Given the description of an element on the screen output the (x, y) to click on. 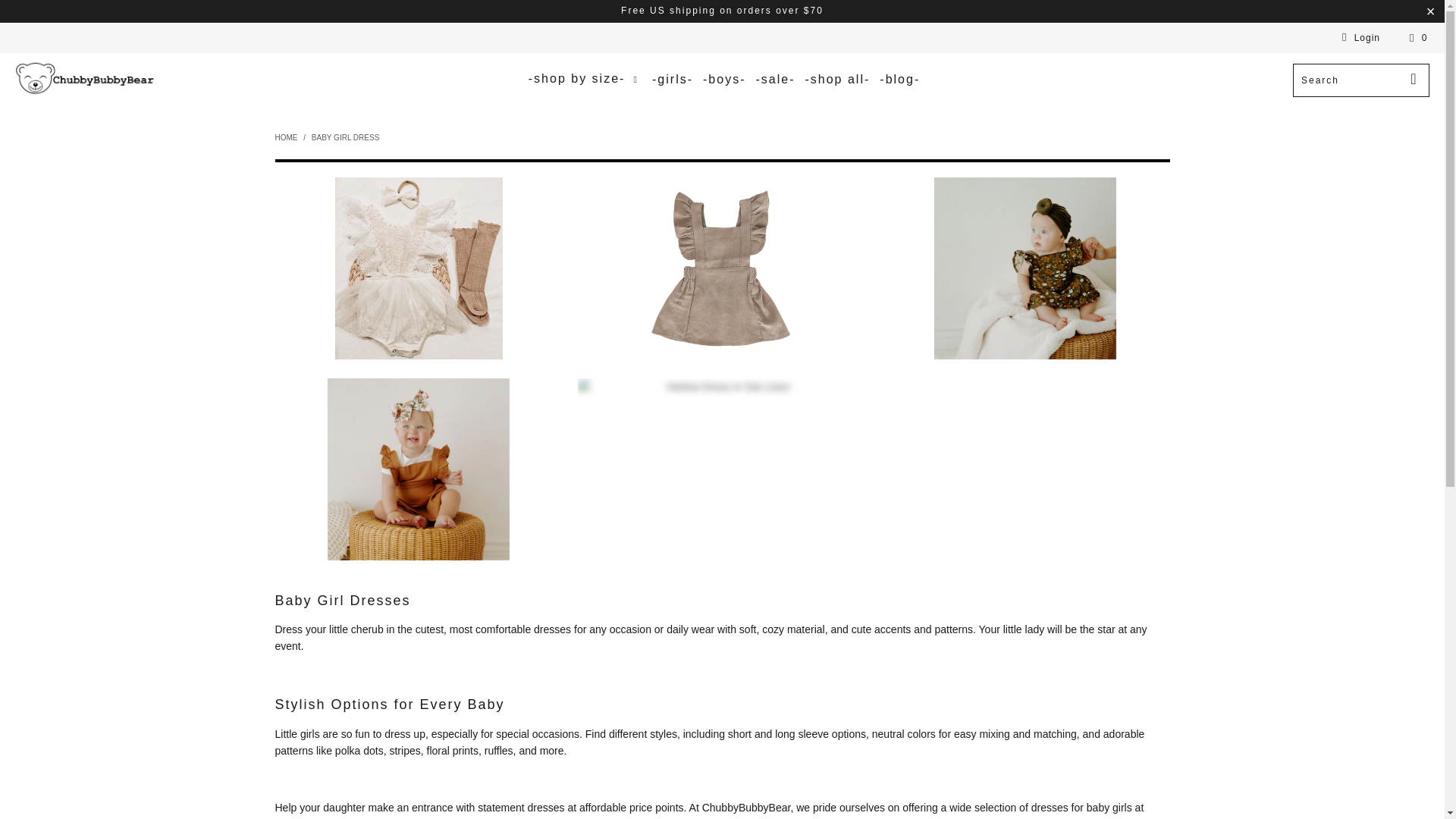
ChubbyBubbyBear (84, 79)
Baby Girl Dress (344, 137)
My Account  (1358, 37)
ChubbyBubbyBear (286, 137)
Login (1358, 37)
